Given the description of an element on the screen output the (x, y) to click on. 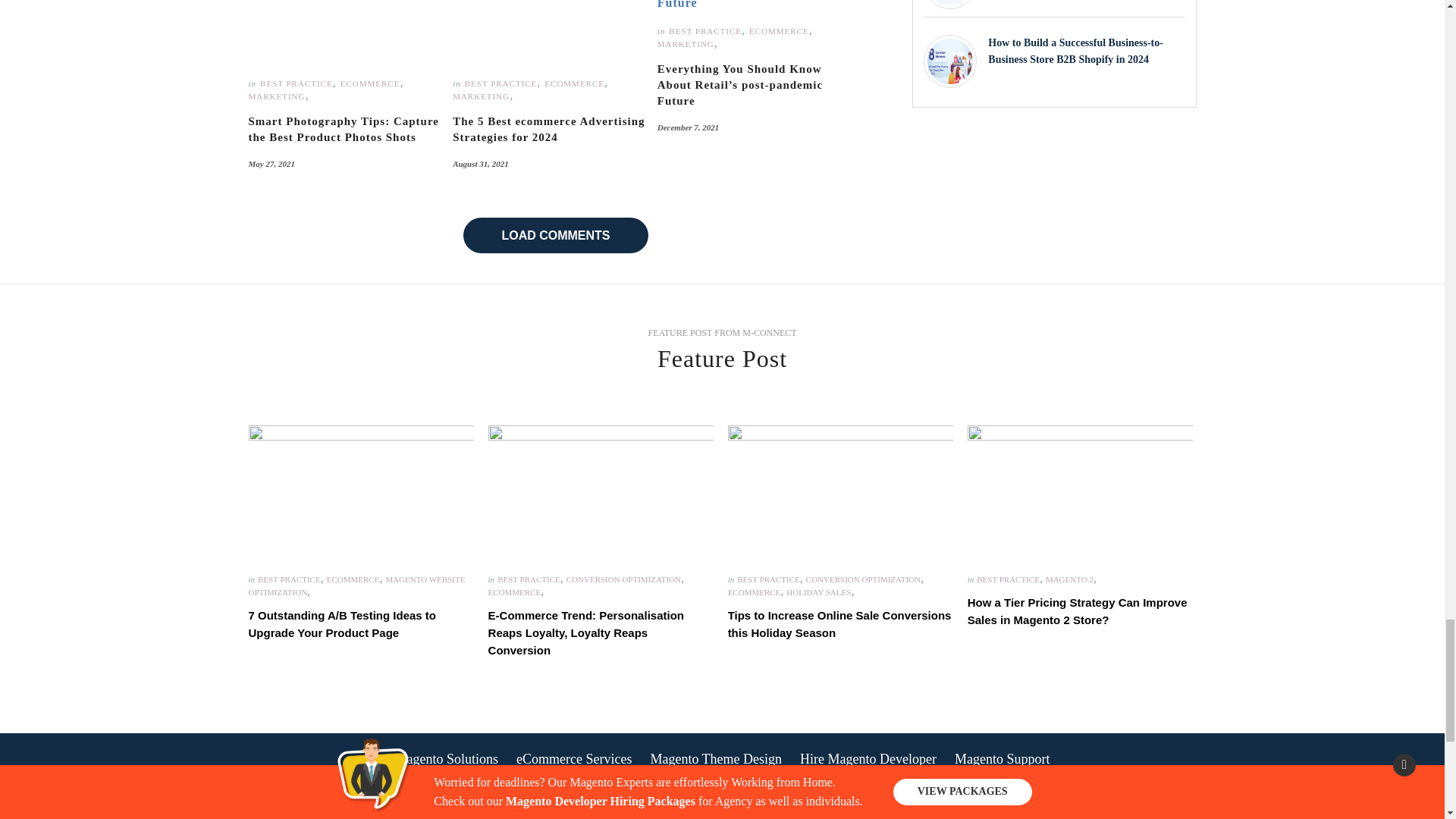
BEST PRACTICE (296, 82)
BEST PRACTICE (500, 82)
The 5 Best ecommerce Advertising Strategies for 2024 (549, 36)
MARKETING (276, 95)
The 5 Best ecommerce Advertising Strategies for 2024 (549, 130)
ECOMMERCE (574, 82)
ECOMMERCE (370, 82)
